Given the description of an element on the screen output the (x, y) to click on. 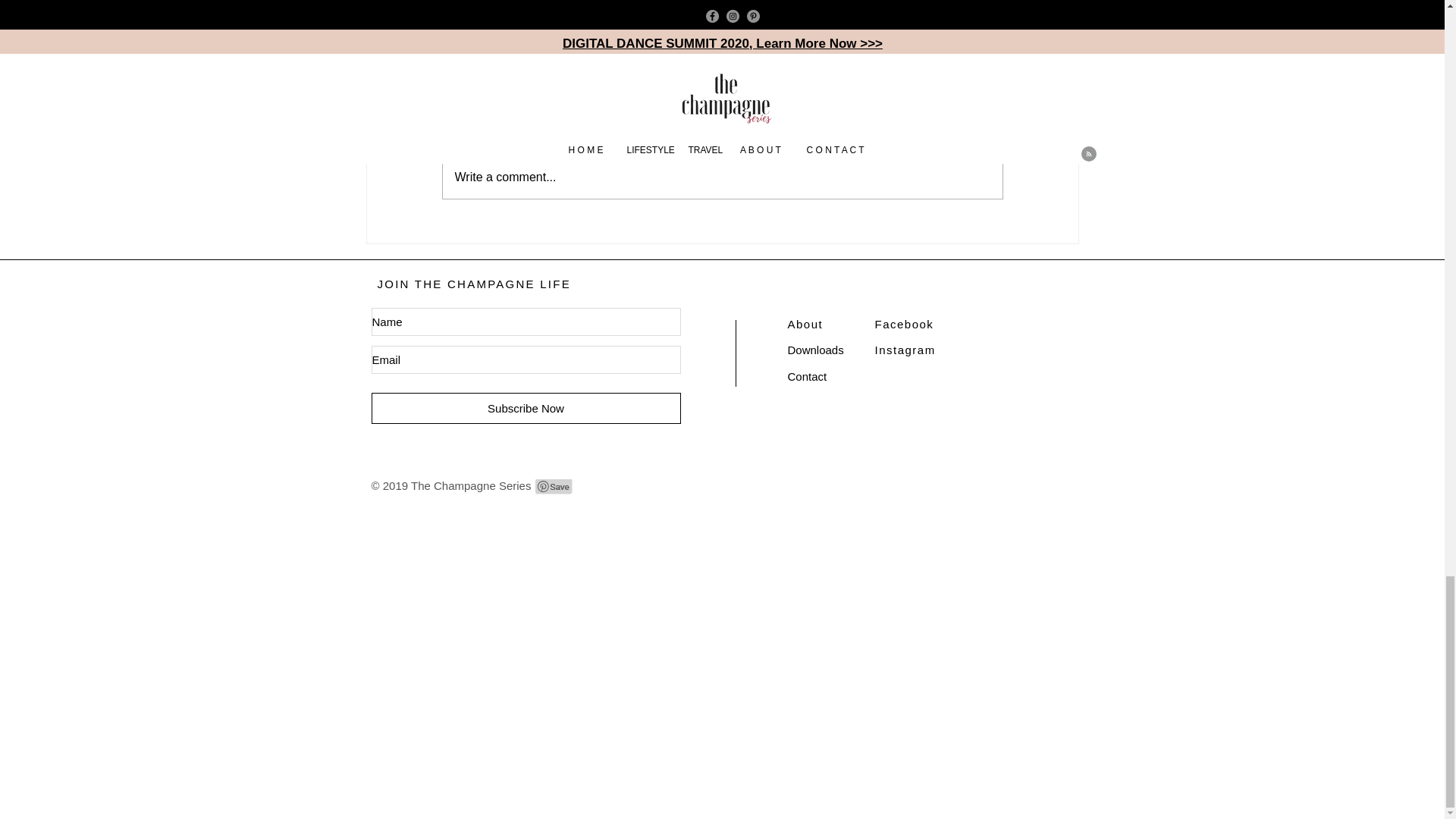
Post not marked as liked (558, 27)
0 (643, 27)
Pin to Pinterest (554, 486)
0 (889, 27)
Write a comment... (722, 177)
0 (397, 27)
Post not marked as liked (800, 27)
